Given the description of an element on the screen output the (x, y) to click on. 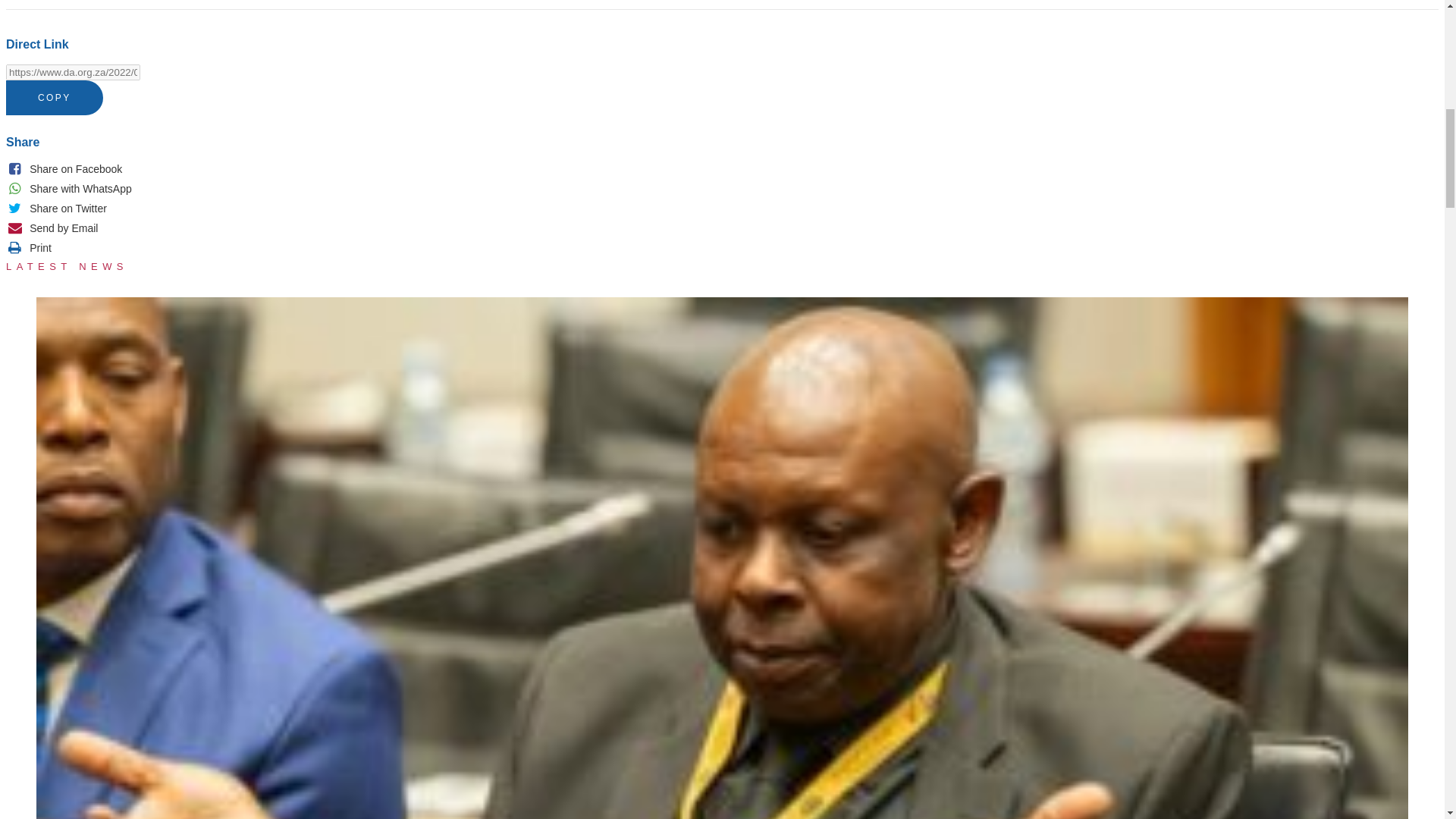
Print (27, 247)
Send by Email (51, 228)
Share on Twitter (55, 208)
Share with WhatsApp (68, 188)
Share on Facebook (63, 169)
COPY (54, 97)
